Given the description of an element on the screen output the (x, y) to click on. 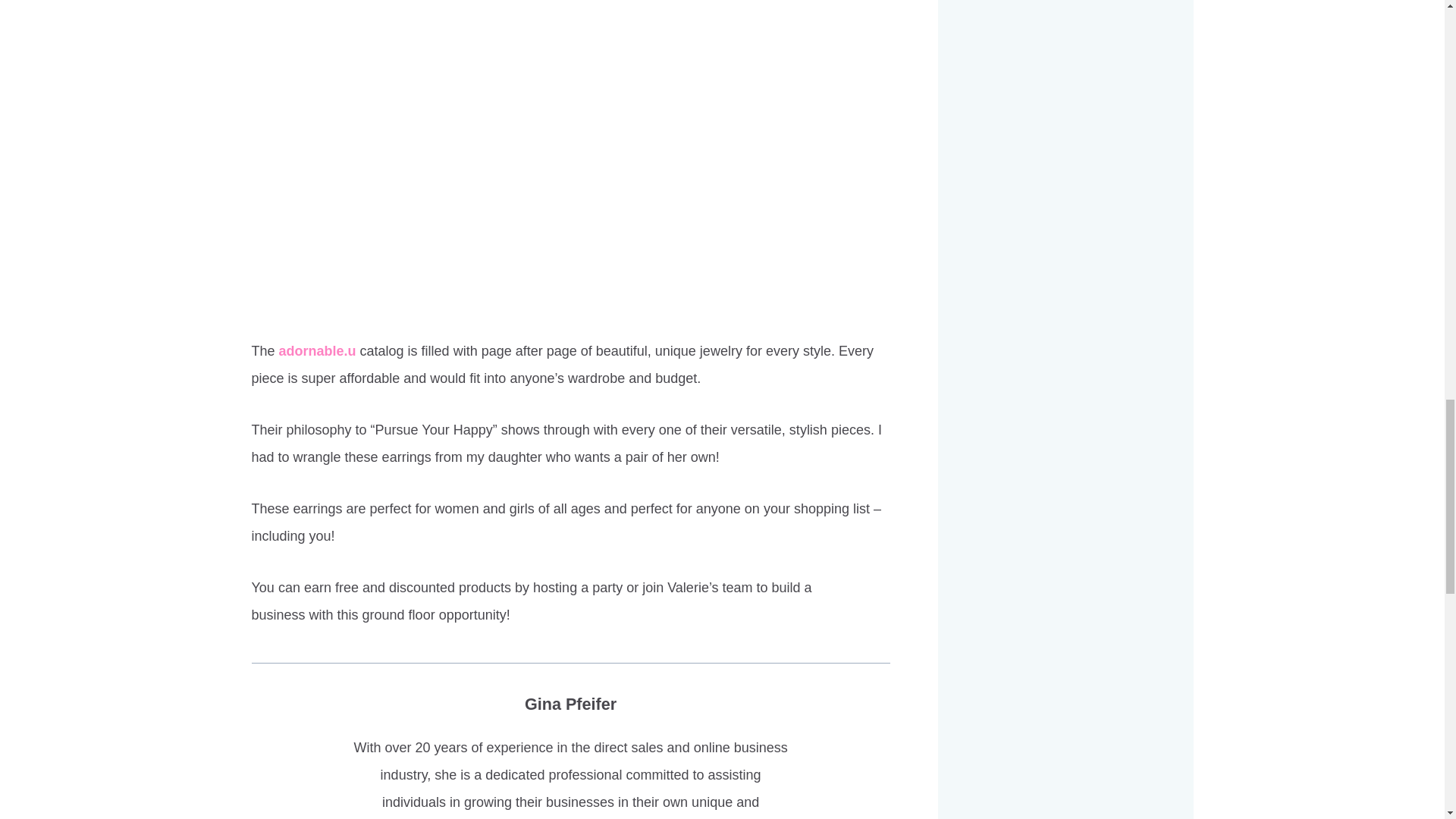
Gina Pfeifer (569, 703)
adornable.u (317, 350)
Posts by Gina Pfeifer (569, 703)
